Given the description of an element on the screen output the (x, y) to click on. 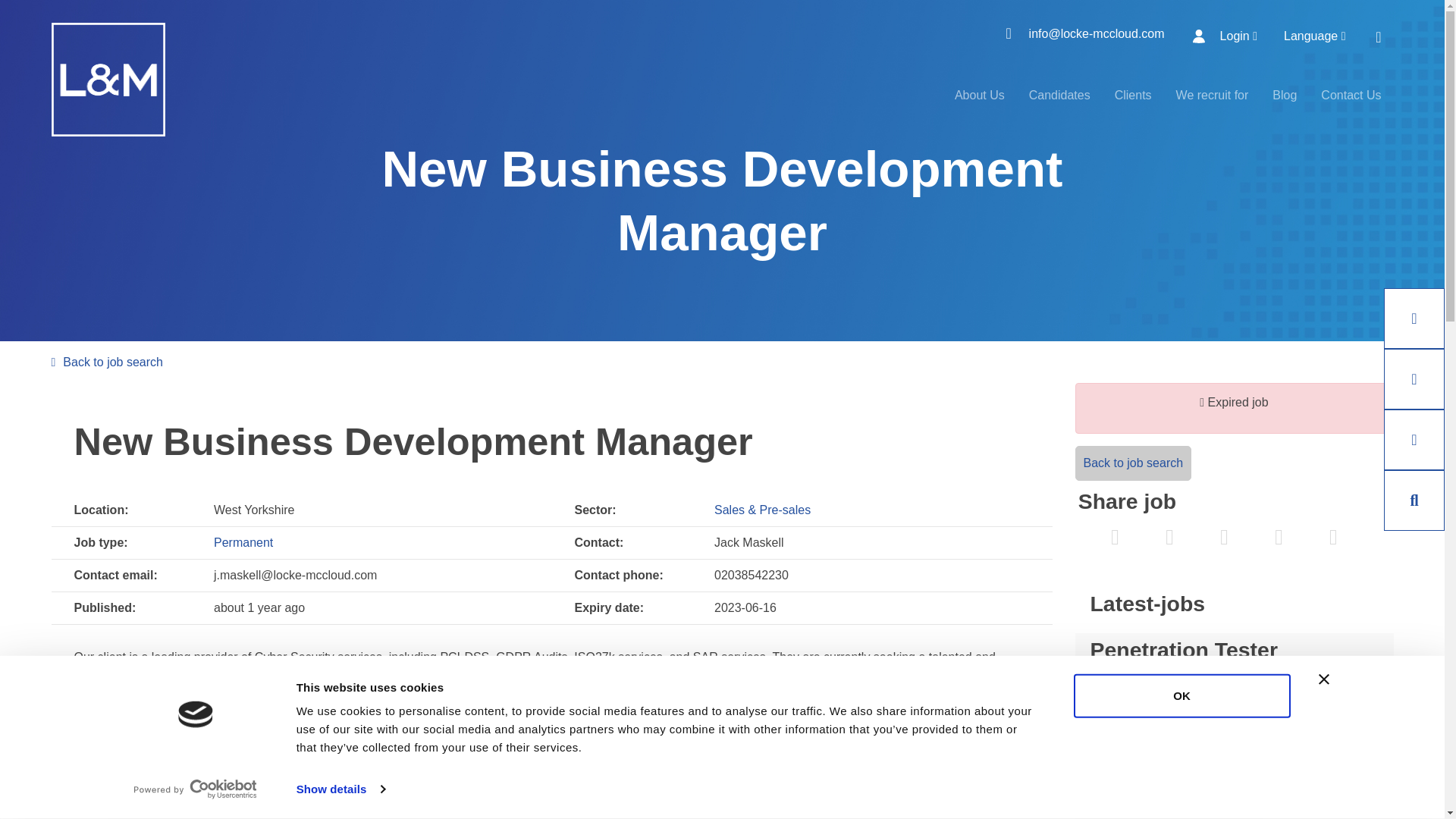
OK (1182, 696)
Email (1278, 537)
Go to the Homepage (107, 79)
Tweet this (1115, 537)
send in Whatsapp (1332, 537)
share on LinkedIn (1223, 537)
Login (1228, 36)
Show details (340, 789)
share on Facebook (1169, 537)
Language (1320, 36)
